Given the description of an element on the screen output the (x, y) to click on. 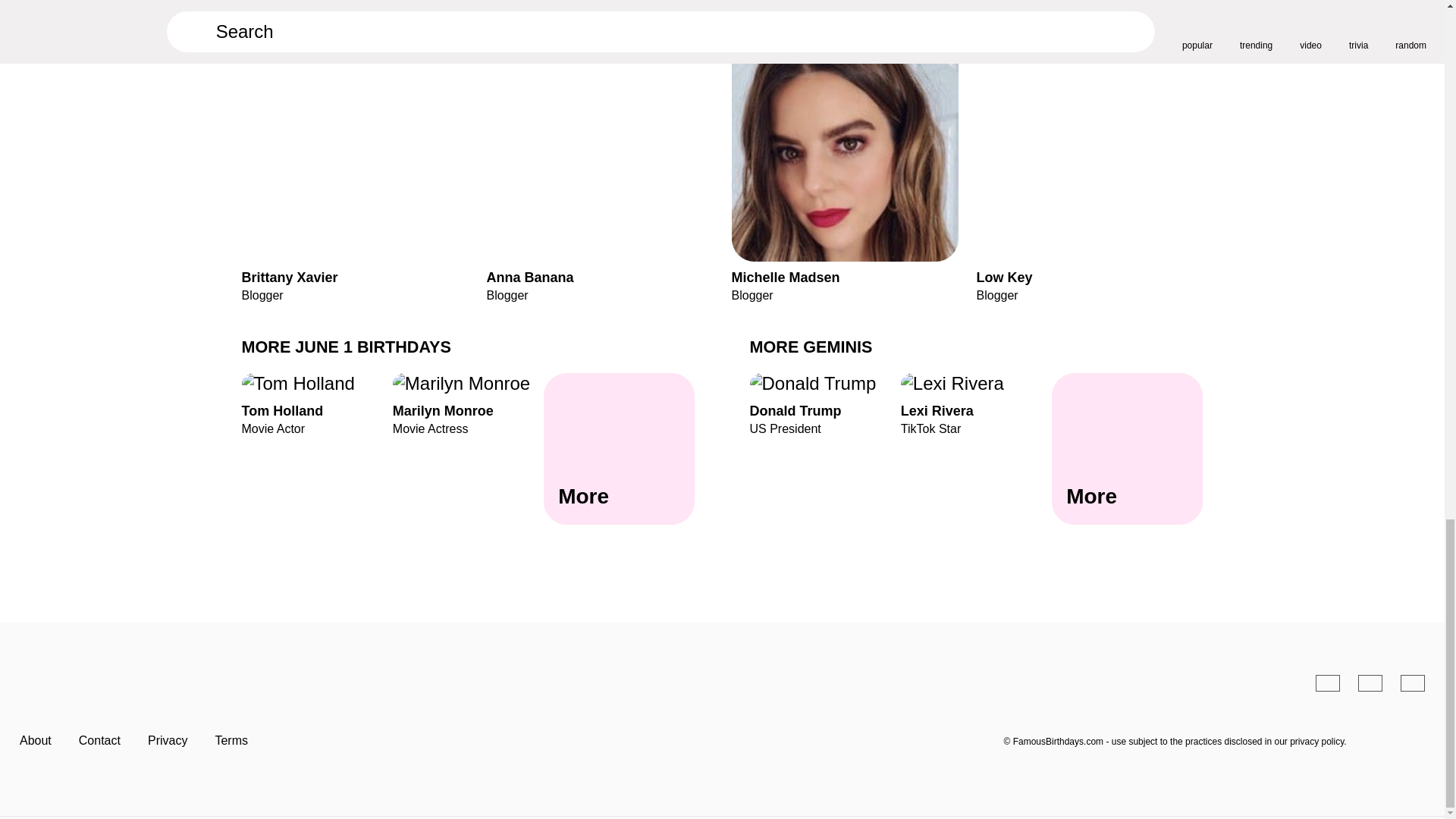
More (1126, 448)
MORE JUNE 1 BIRTHDAYS (345, 346)
MORE GEMINIS (810, 346)
Portuguese (316, 403)
More (468, 403)
French (1369, 682)
Spanish (618, 448)
